Given the description of an element on the screen output the (x, y) to click on. 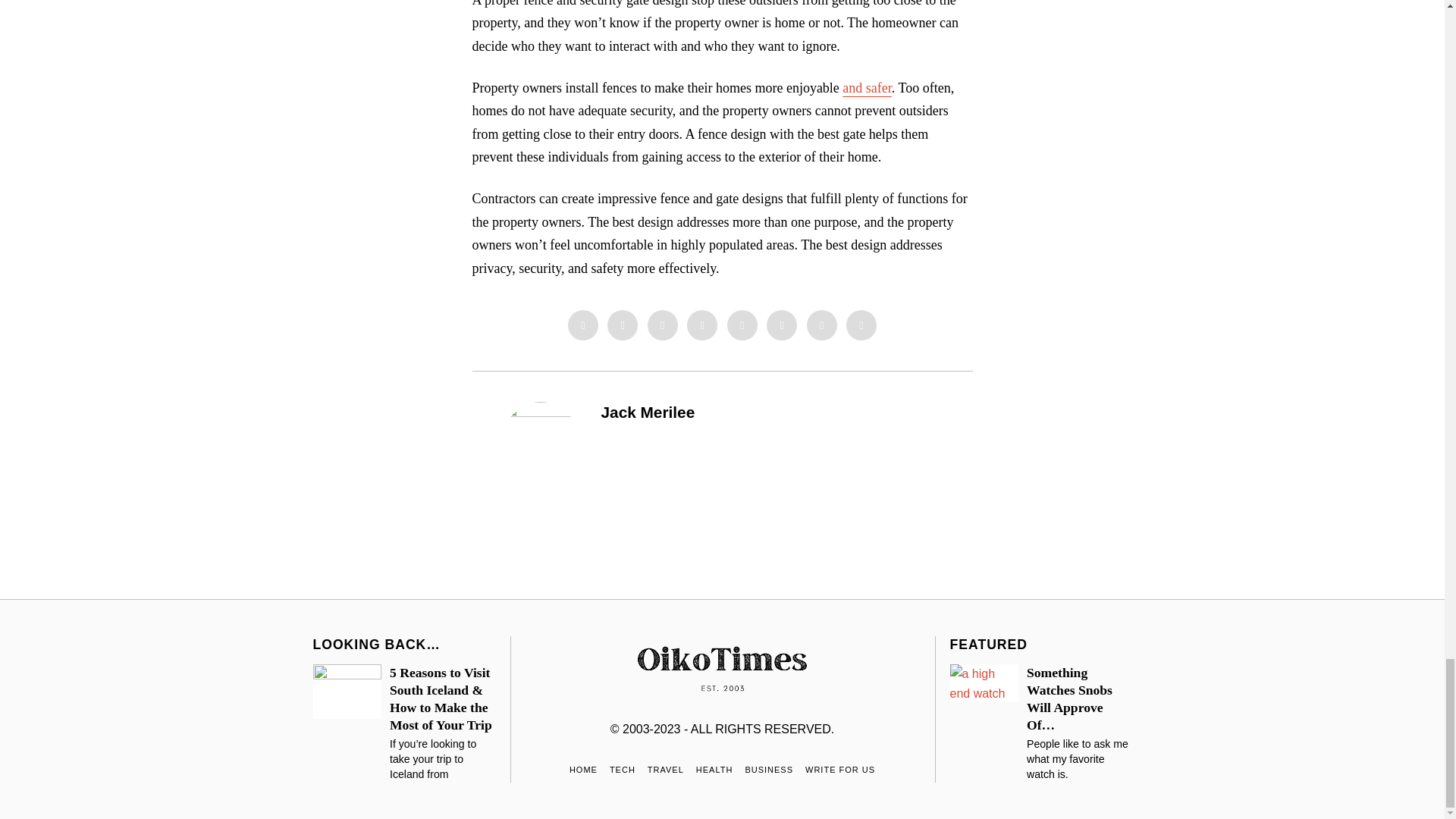
Pinterest (702, 325)
Reddit (821, 325)
Facebook (582, 325)
Linkedin (741, 325)
Whatsapp (781, 325)
Messenger (622, 325)
Email (860, 325)
Twitter (662, 325)
